Given the description of an element on the screen output the (x, y) to click on. 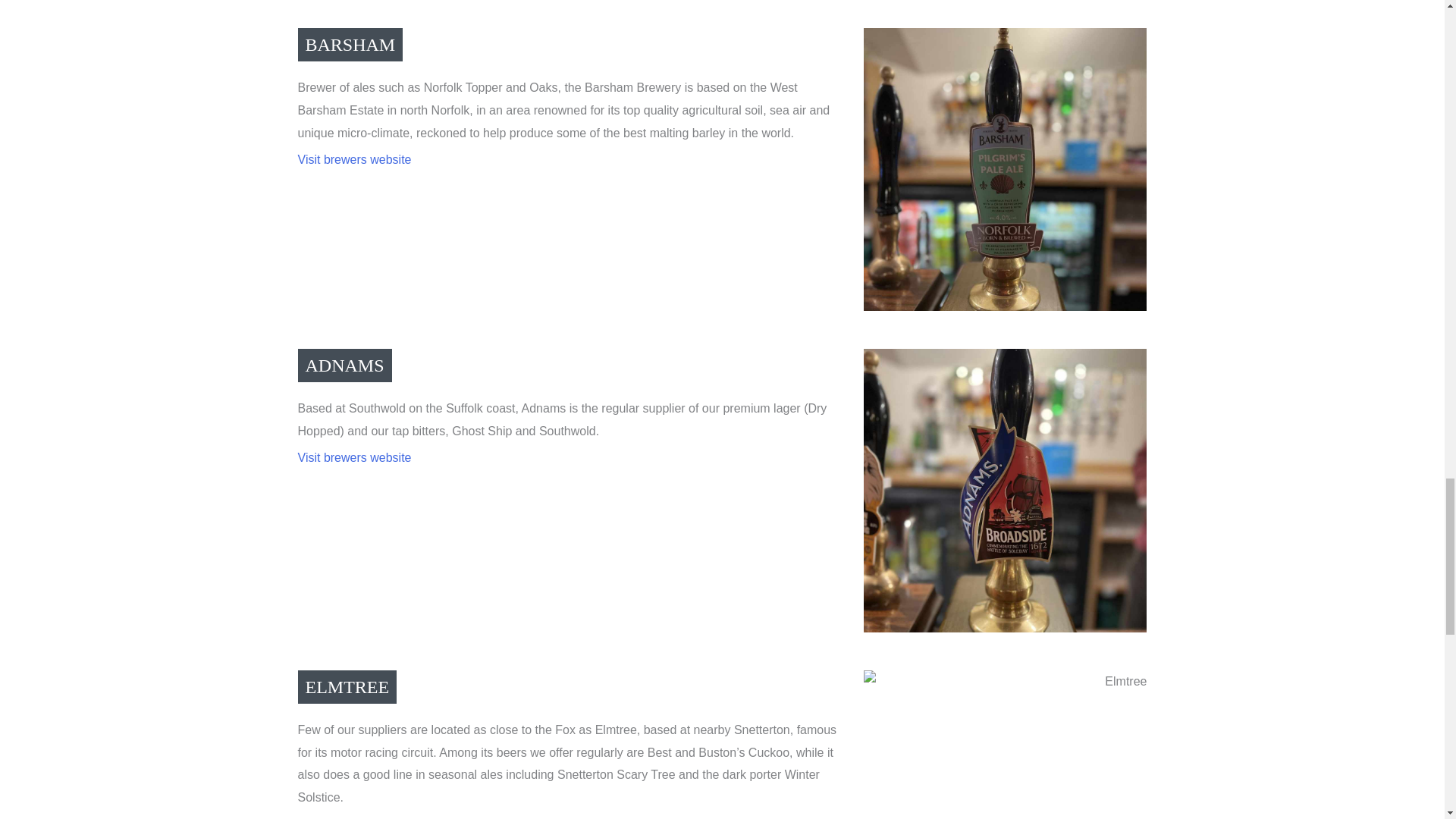
Visit brewers website (353, 159)
Visit brewers website (353, 818)
Visit brewers website (353, 457)
